Given the description of an element on the screen output the (x, y) to click on. 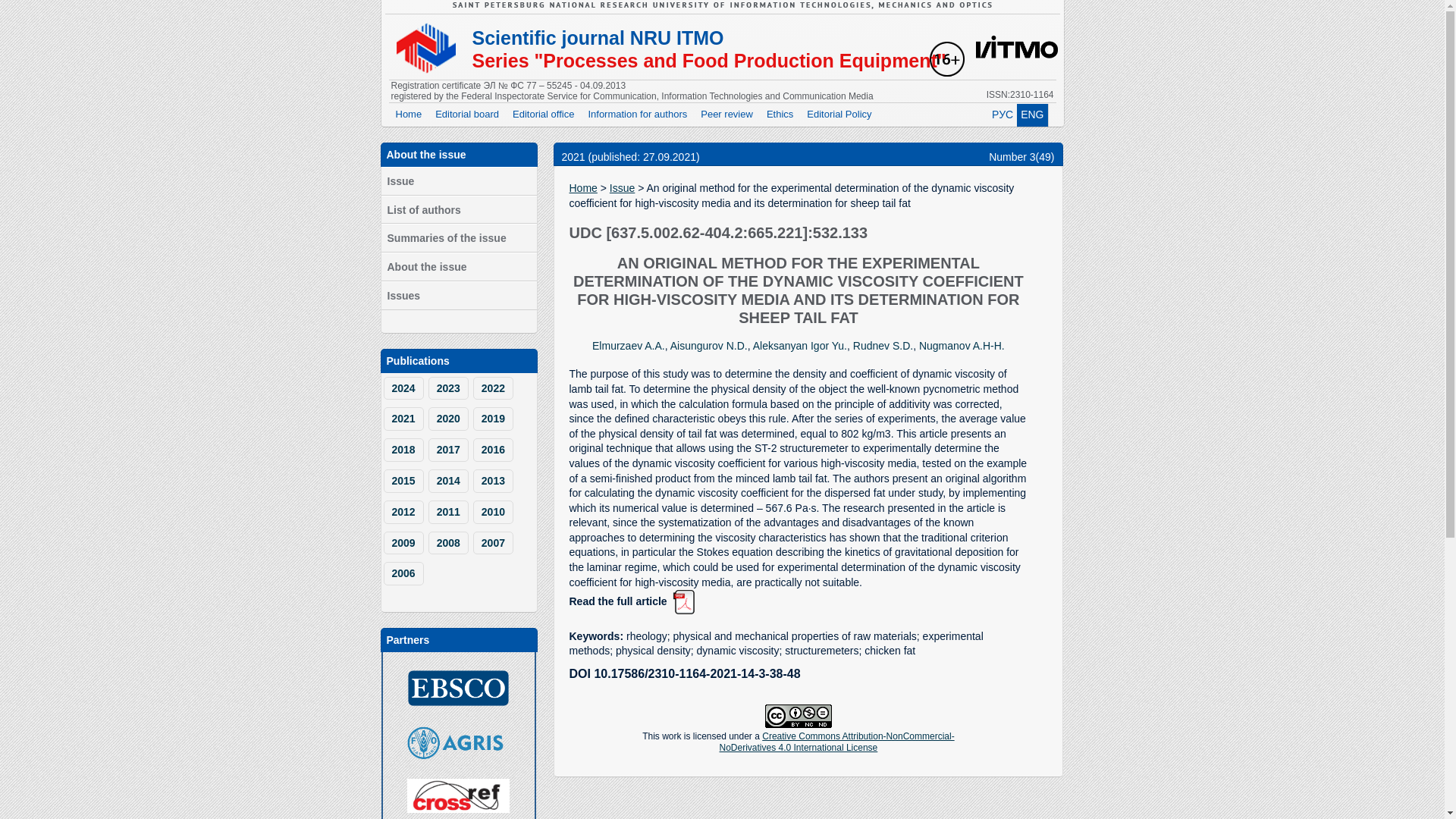
2007 (493, 543)
About the issue (457, 266)
Peer review (727, 114)
2011 (448, 512)
Issues (457, 295)
2008 (448, 543)
Issue (457, 181)
2023 (448, 388)
Information for authors (637, 114)
2017 (448, 449)
